Given the description of an element on the screen output the (x, y) to click on. 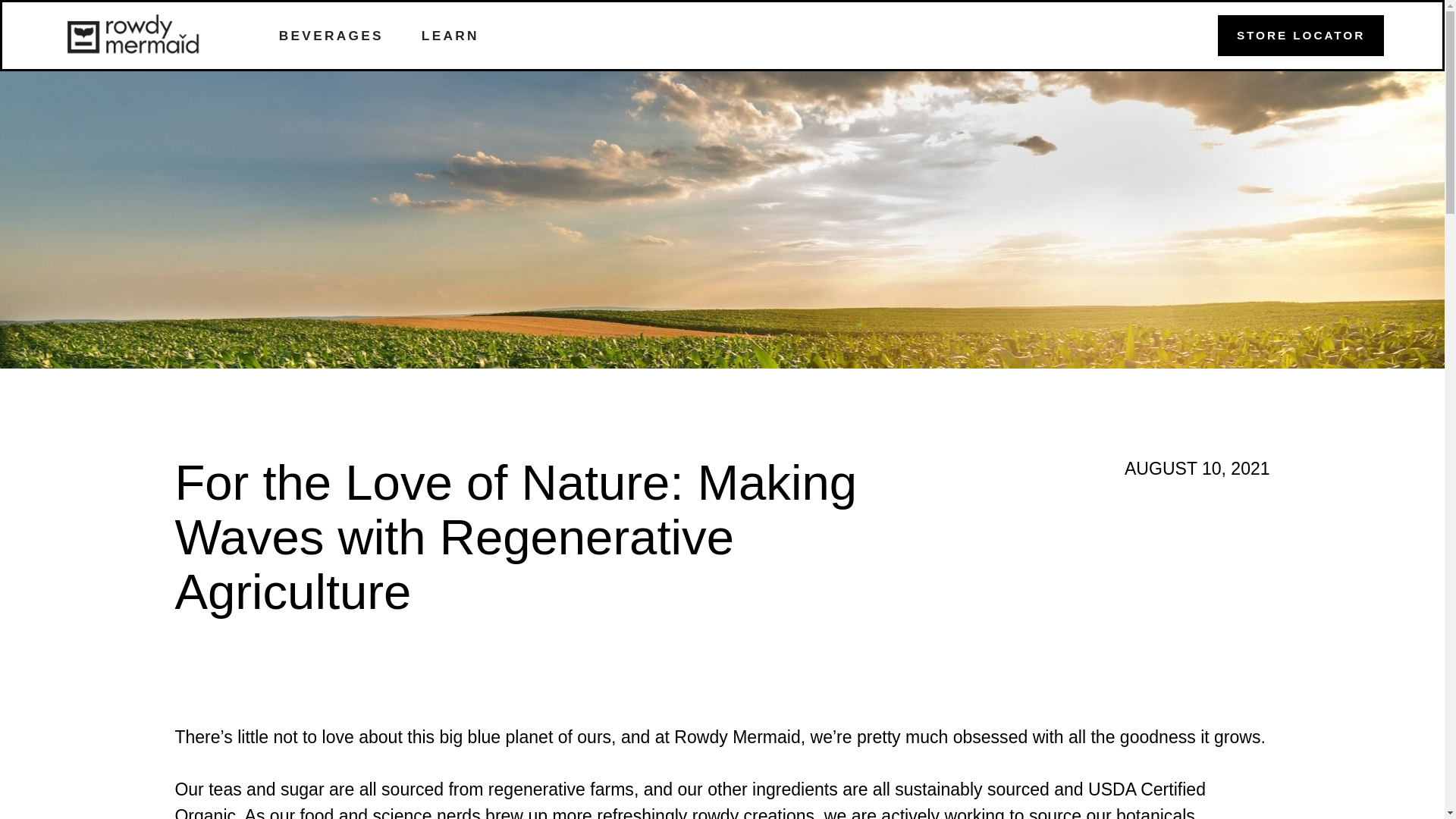
STORE LOCATOR (1300, 35)
